Given the description of an element on the screen output the (x, y) to click on. 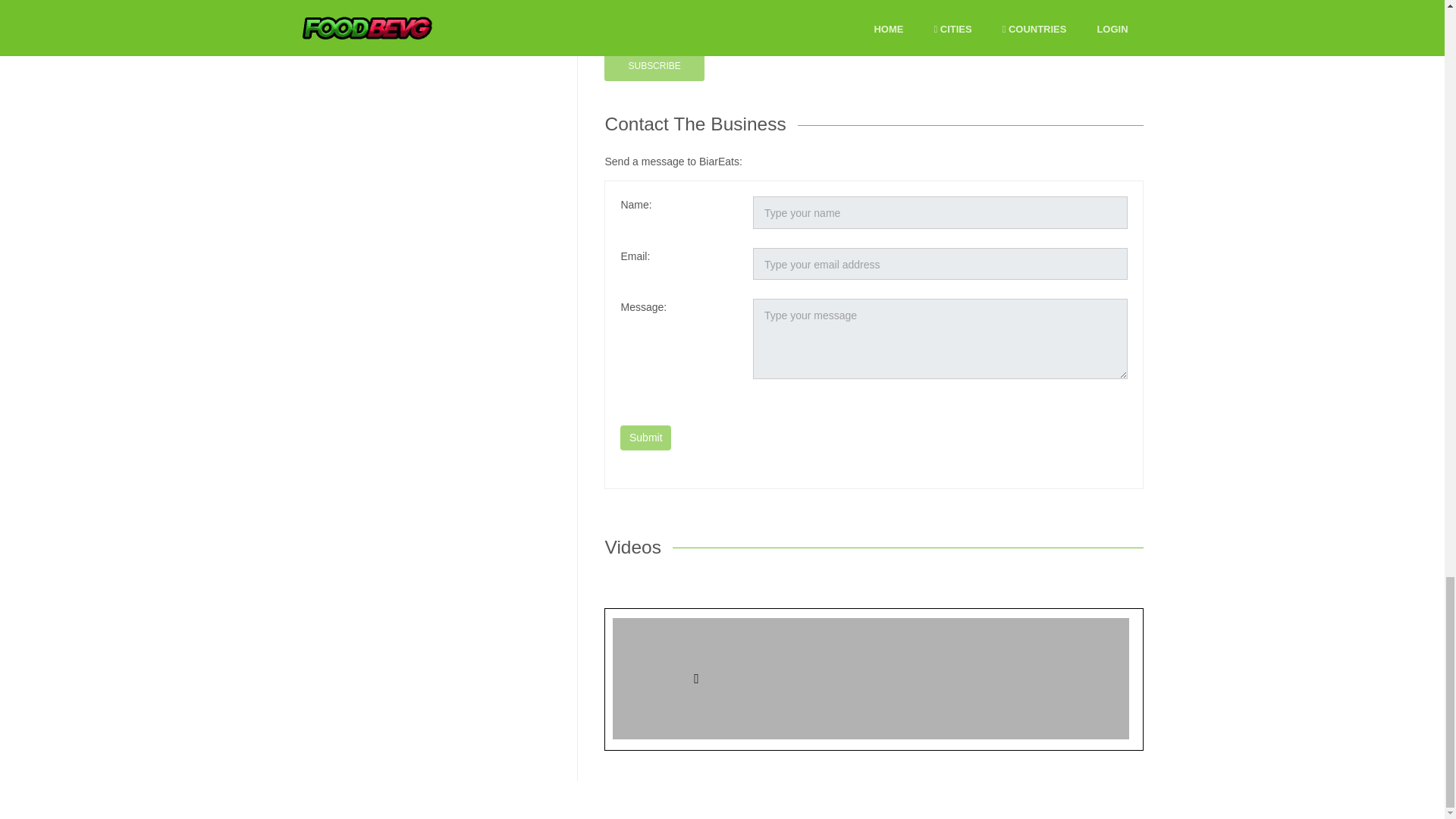
Submit (645, 438)
Submit (645, 438)
SUBSCRIBE (653, 65)
